Given the description of an element on the screen output the (x, y) to click on. 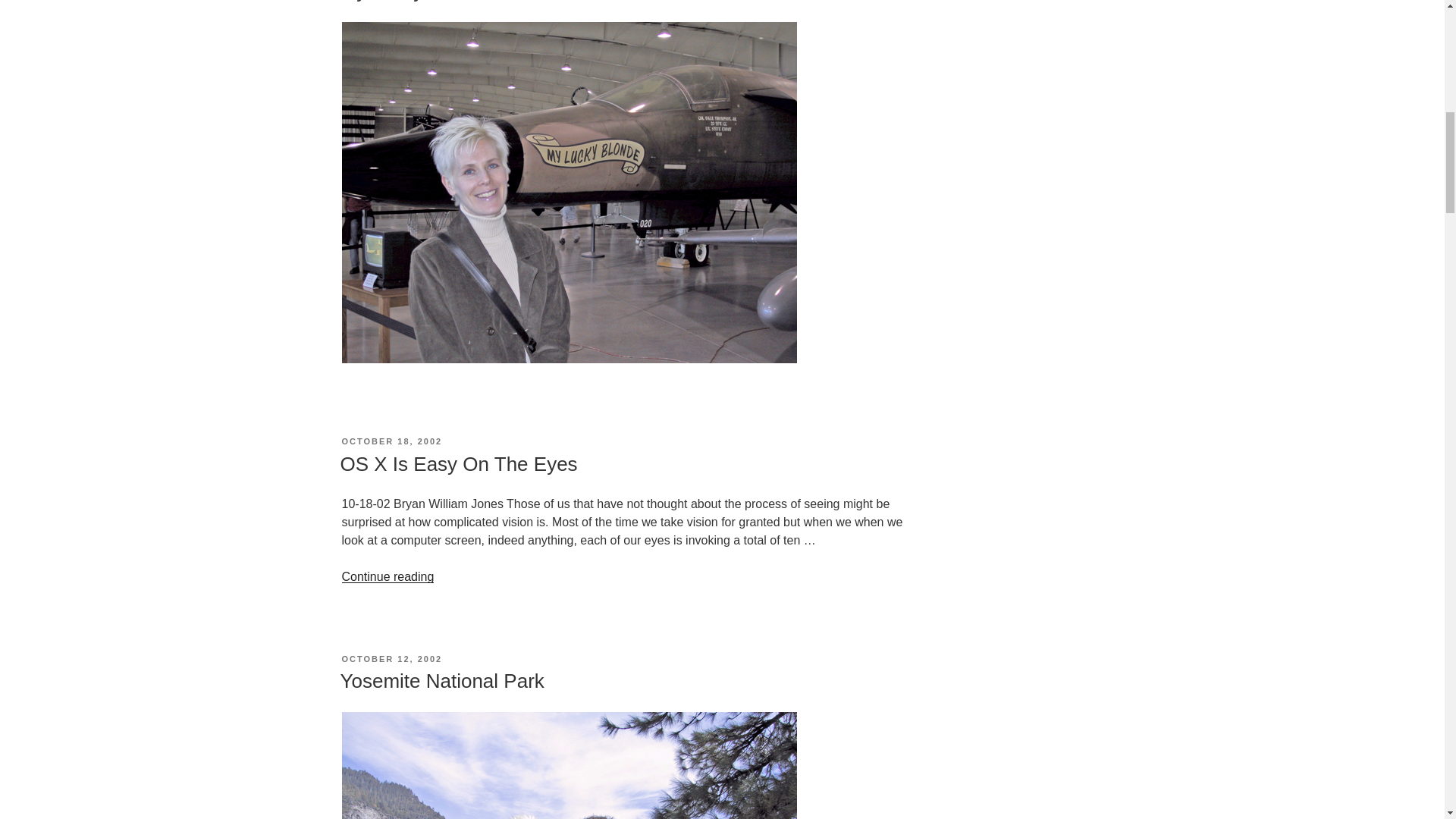
OCTOBER 18, 2002 (391, 440)
OS X Is Easy On The Eyes (457, 463)
OCTOBER 12, 2002 (391, 658)
Yosemite National Park (441, 680)
My Lucky Blonde (414, 1)
